Given the description of an element on the screen output the (x, y) to click on. 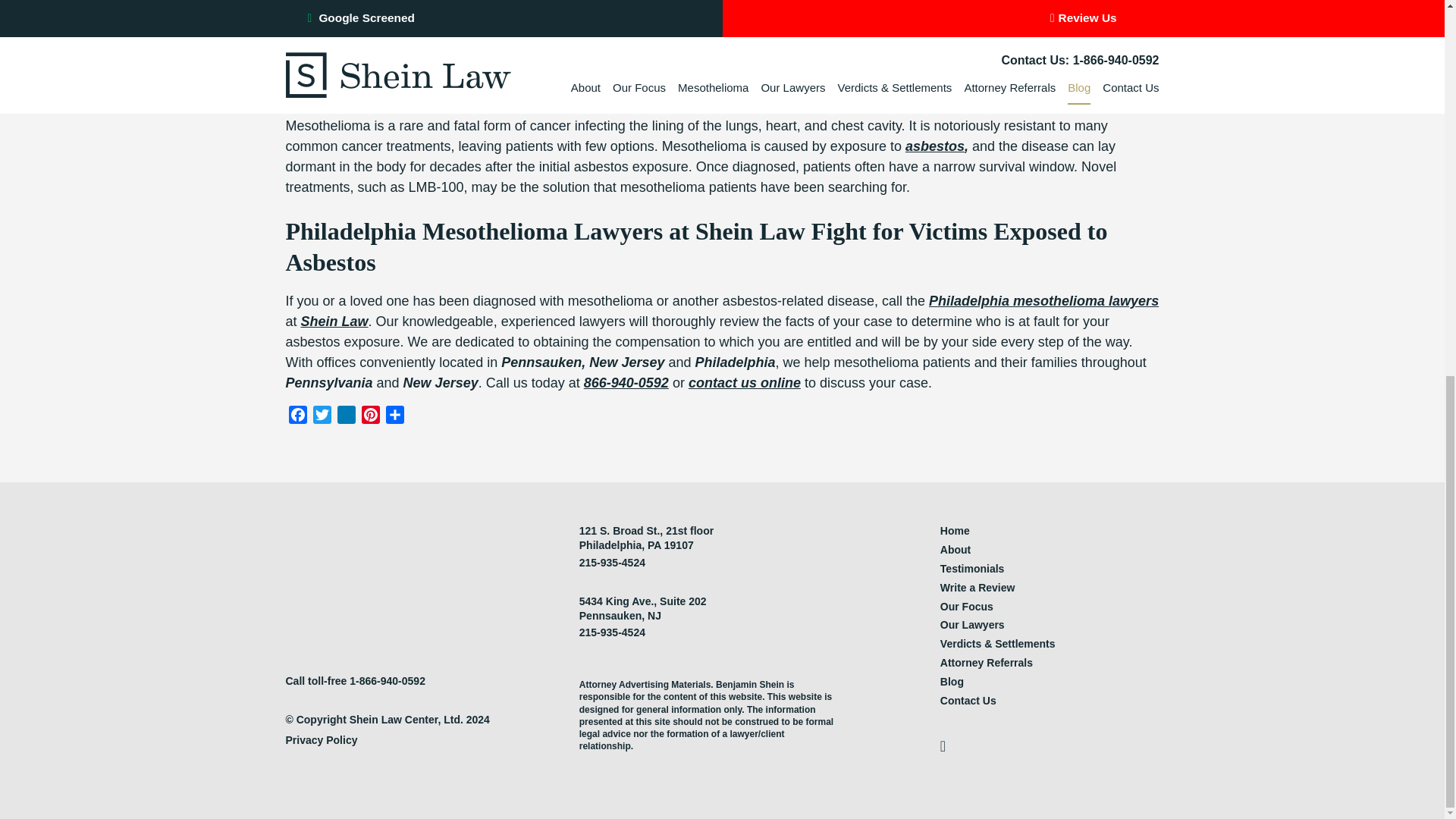
Twitter (320, 417)
LinkedIn (345, 417)
LinkedIn (345, 417)
Twitter (320, 417)
Shein Law (334, 321)
Facebook (296, 417)
contact us online (744, 382)
Pinterest (369, 417)
Facebook (296, 417)
asbestos (934, 145)
